Given the description of an element on the screen output the (x, y) to click on. 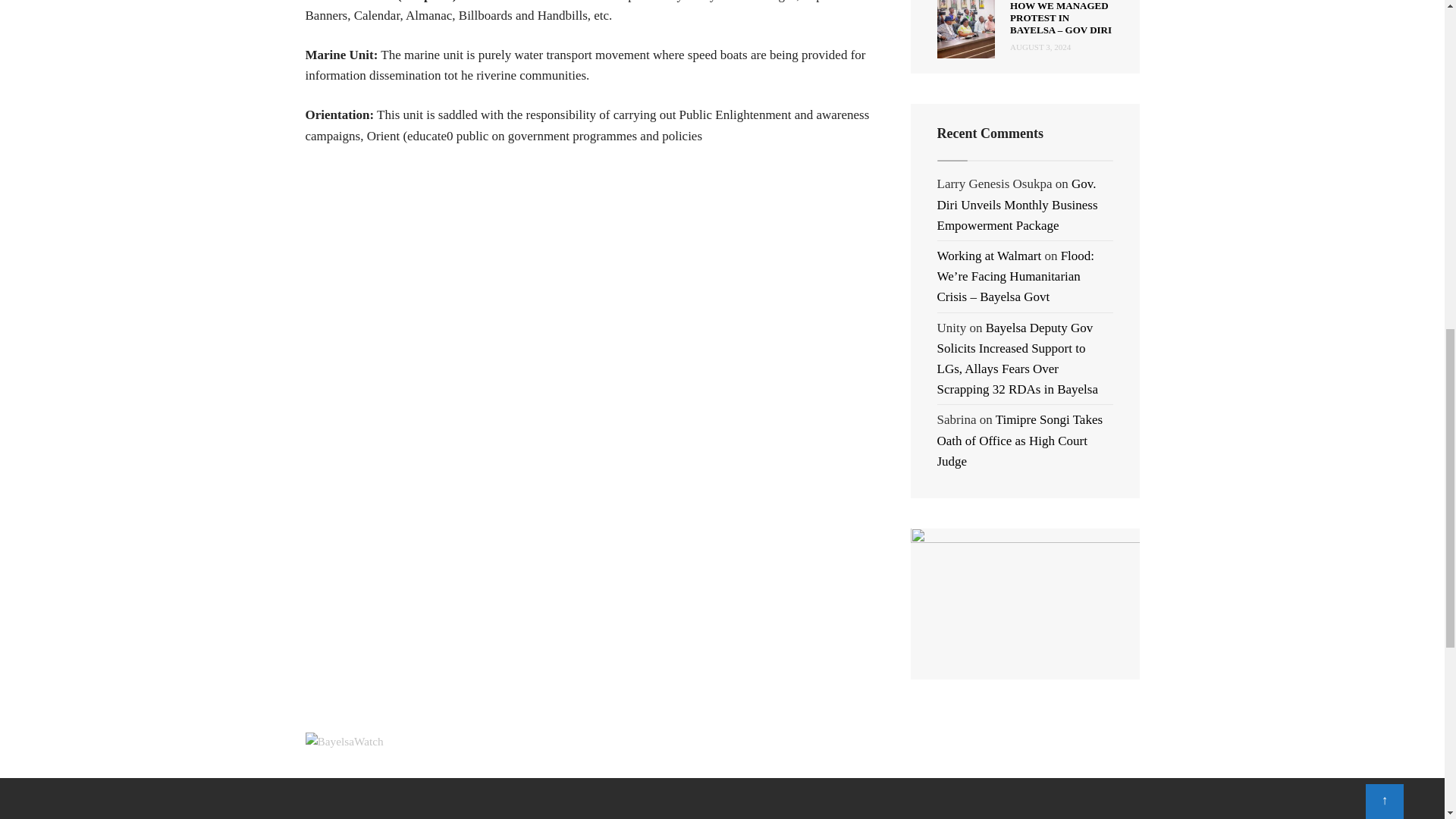
Gov. Diri Unveils Monthly Business Empowerment Package (1017, 203)
Working at Walmart (989, 255)
Scroll to top (1384, 1)
Timipre Songi Takes Oath of Office as High Court Judge (1020, 439)
